Given the description of an element on the screen output the (x, y) to click on. 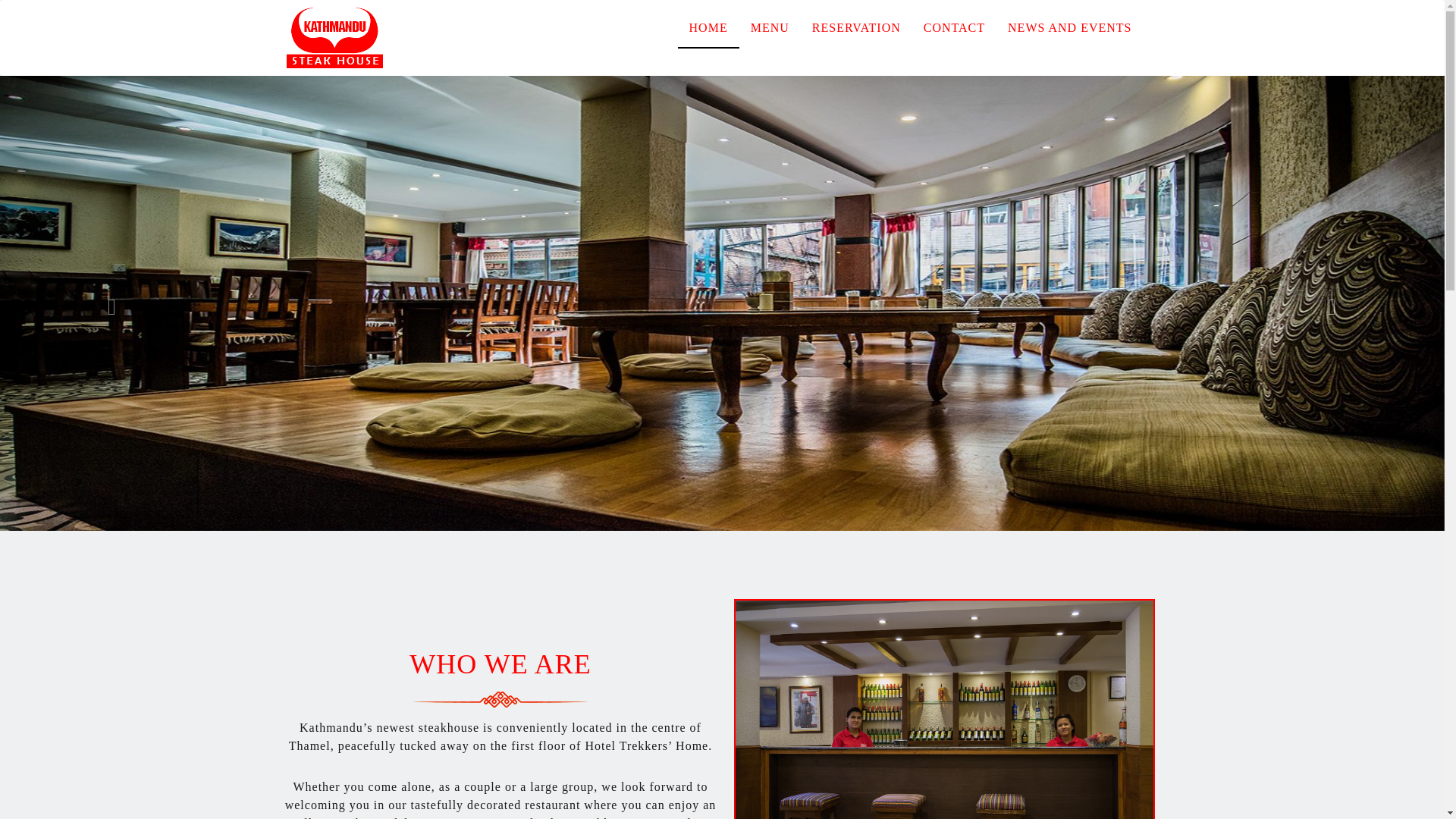
MENU (769, 27)
CONTACT (953, 27)
HOME (708, 27)
NEWS AND EVENTS (1068, 27)
RESERVATION (856, 27)
